Given the description of an element on the screen output the (x, y) to click on. 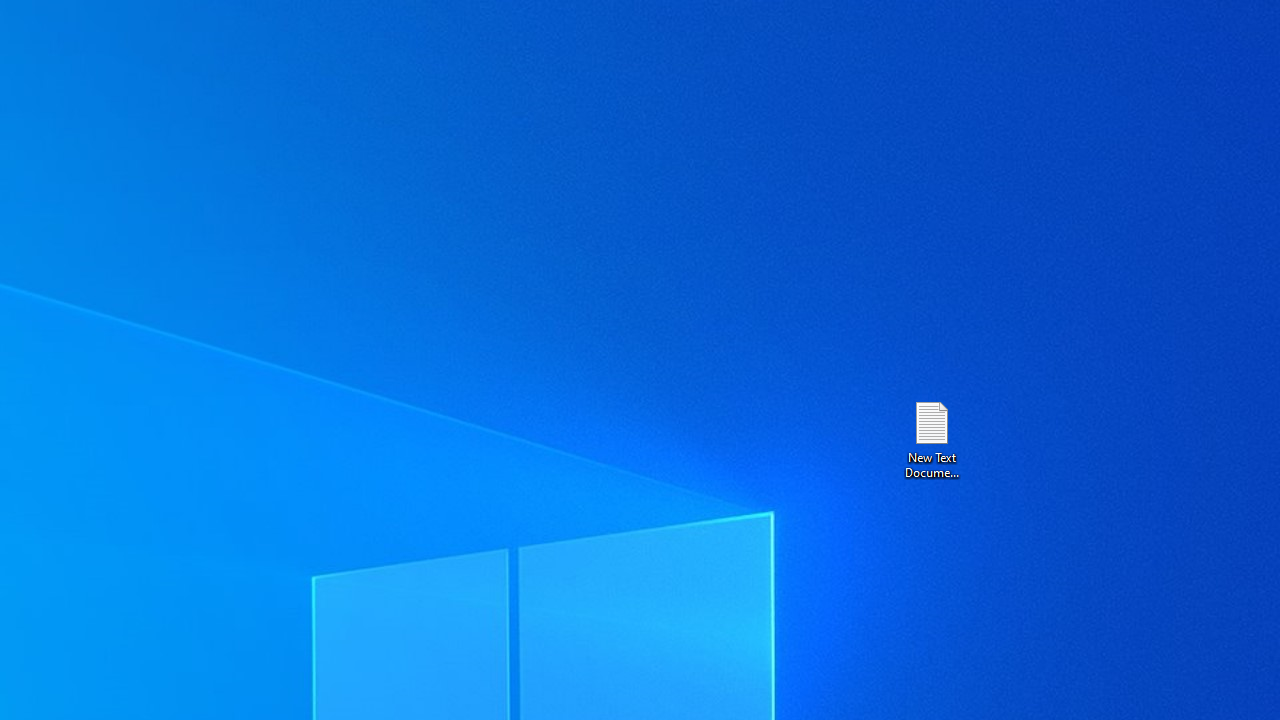
New Text Document (2) (931, 438)
